Given the description of an element on the screen output the (x, y) to click on. 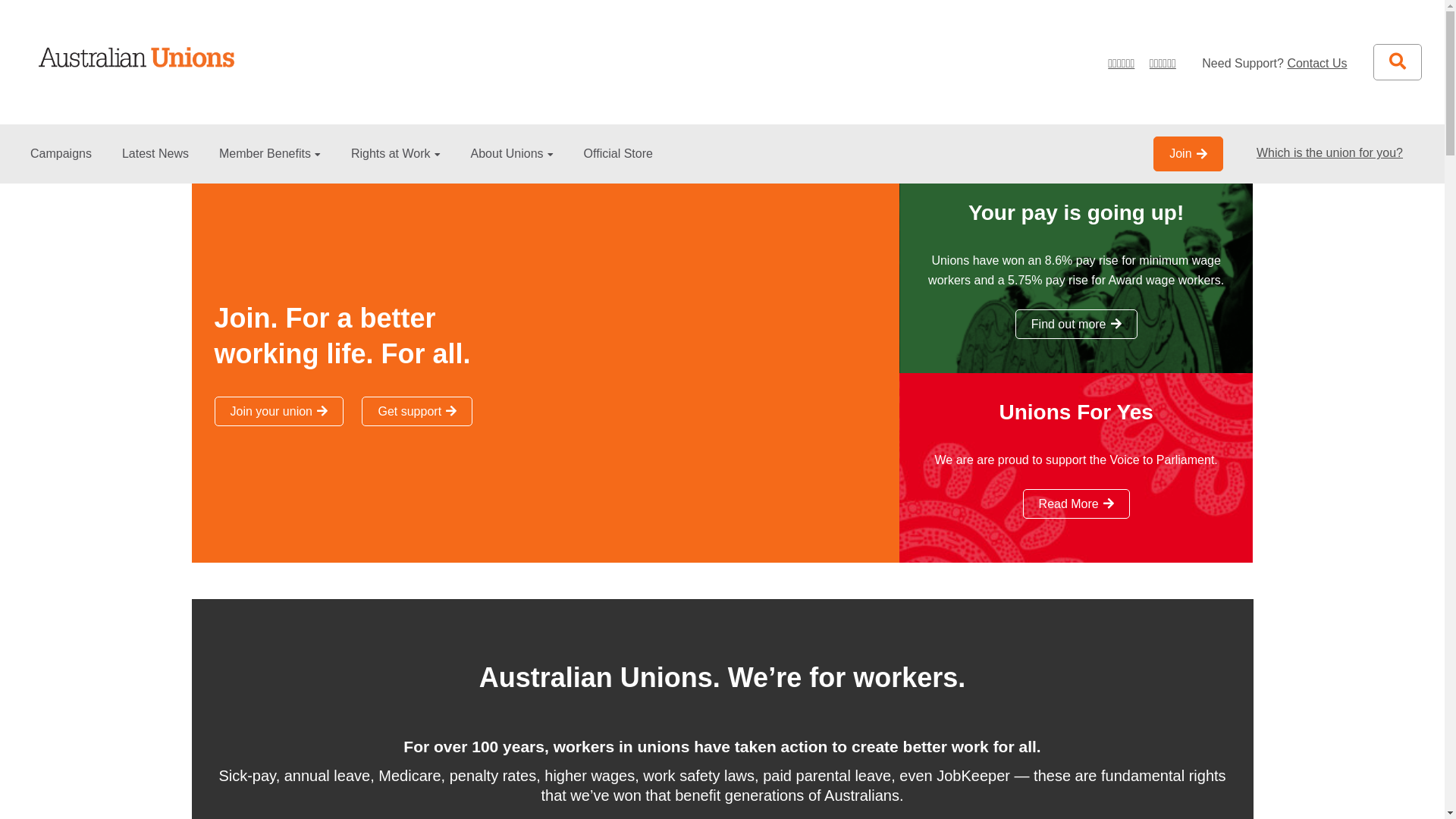
Rights at Work Element type: text (395, 164)
Join Element type: text (1187, 153)
Which is the union for you? Element type: text (1329, 152)
Official Store Element type: text (618, 164)
Campaigns Element type: text (60, 164)
Latest News Element type: text (155, 164)
About Unions Element type: text (512, 164)
Contact Us Element type: text (1324, 62)
Join your union Element type: text (278, 411)
Member Benefits Element type: text (269, 164)
Get support Element type: text (416, 411)
Find out more Element type: text (1076, 323)
Read More Element type: text (1075, 503)
